Given the description of an element on the screen output the (x, y) to click on. 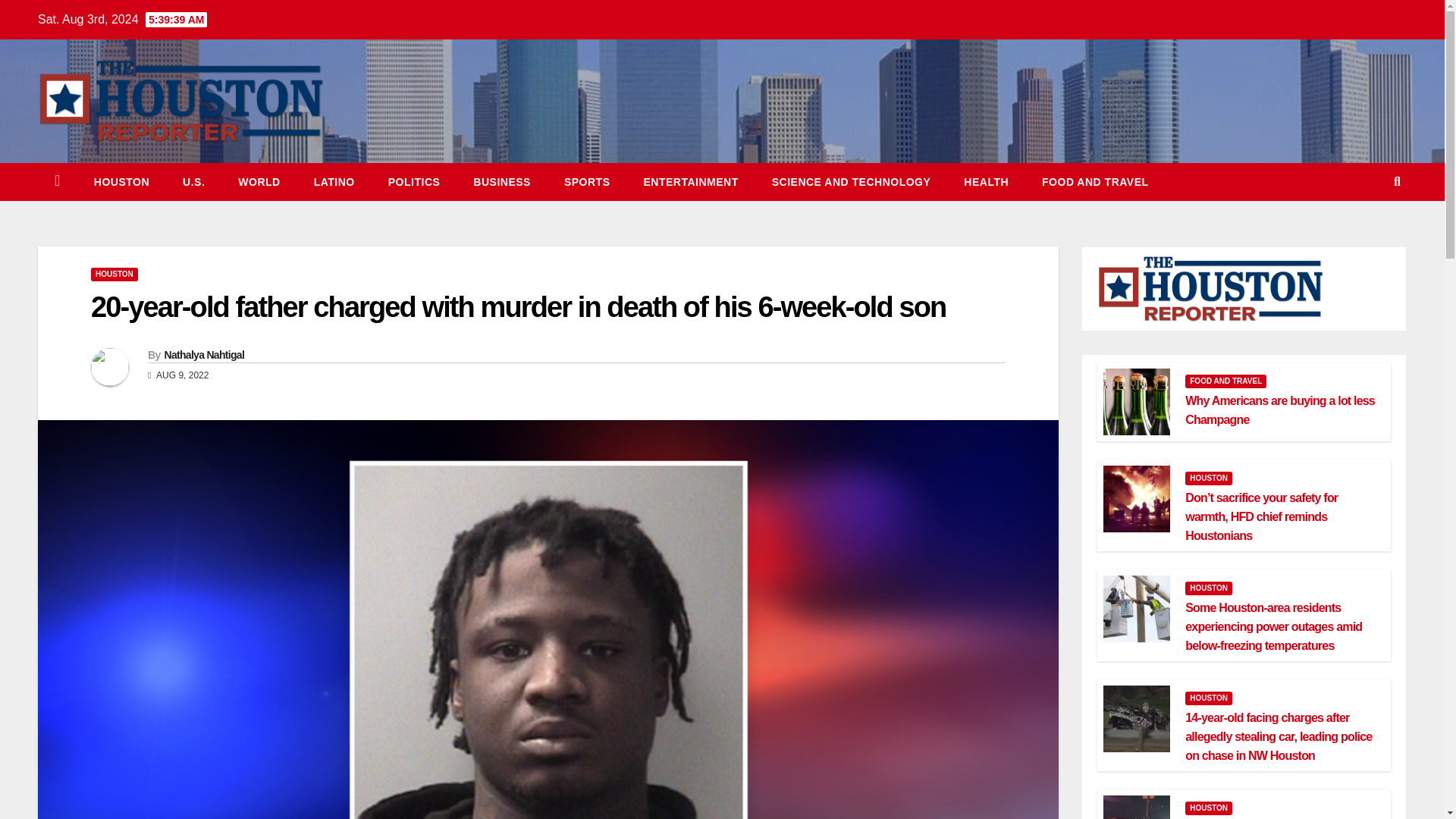
Health (986, 181)
U.S. (193, 181)
World (259, 181)
POLITICS (414, 181)
Why Americans are buying a lot less Champagne (1279, 409)
Sports (587, 181)
Latino (334, 181)
LATINO (334, 181)
SCIENCE AND TECHNOLOGY (851, 181)
HOUSTON (114, 274)
Politics (414, 181)
Science and Technology (851, 181)
Nathalya Nahtigal (203, 354)
